Given the description of an element on the screen output the (x, y) to click on. 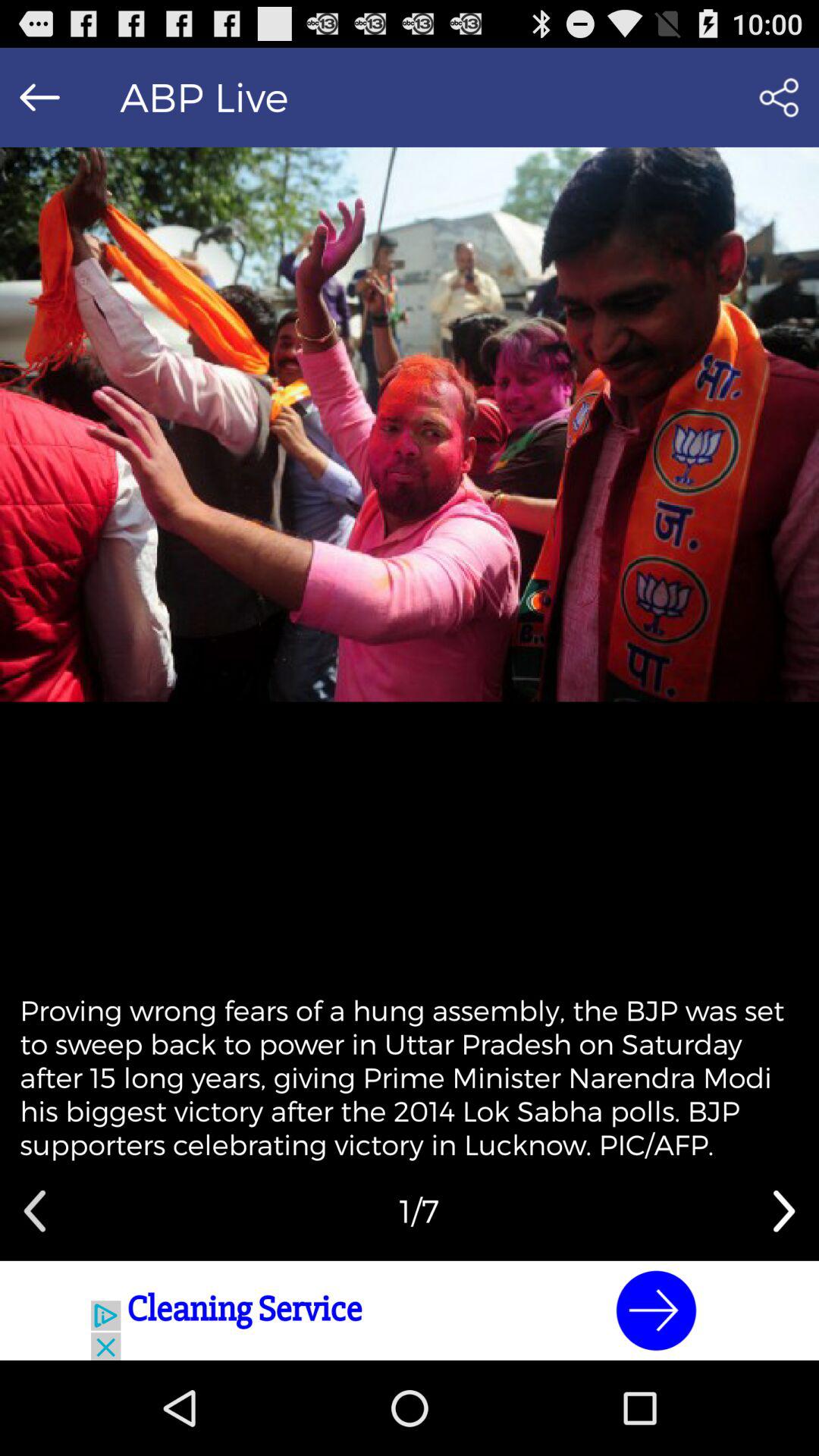
share post (778, 97)
